Given the description of an element on the screen output the (x, y) to click on. 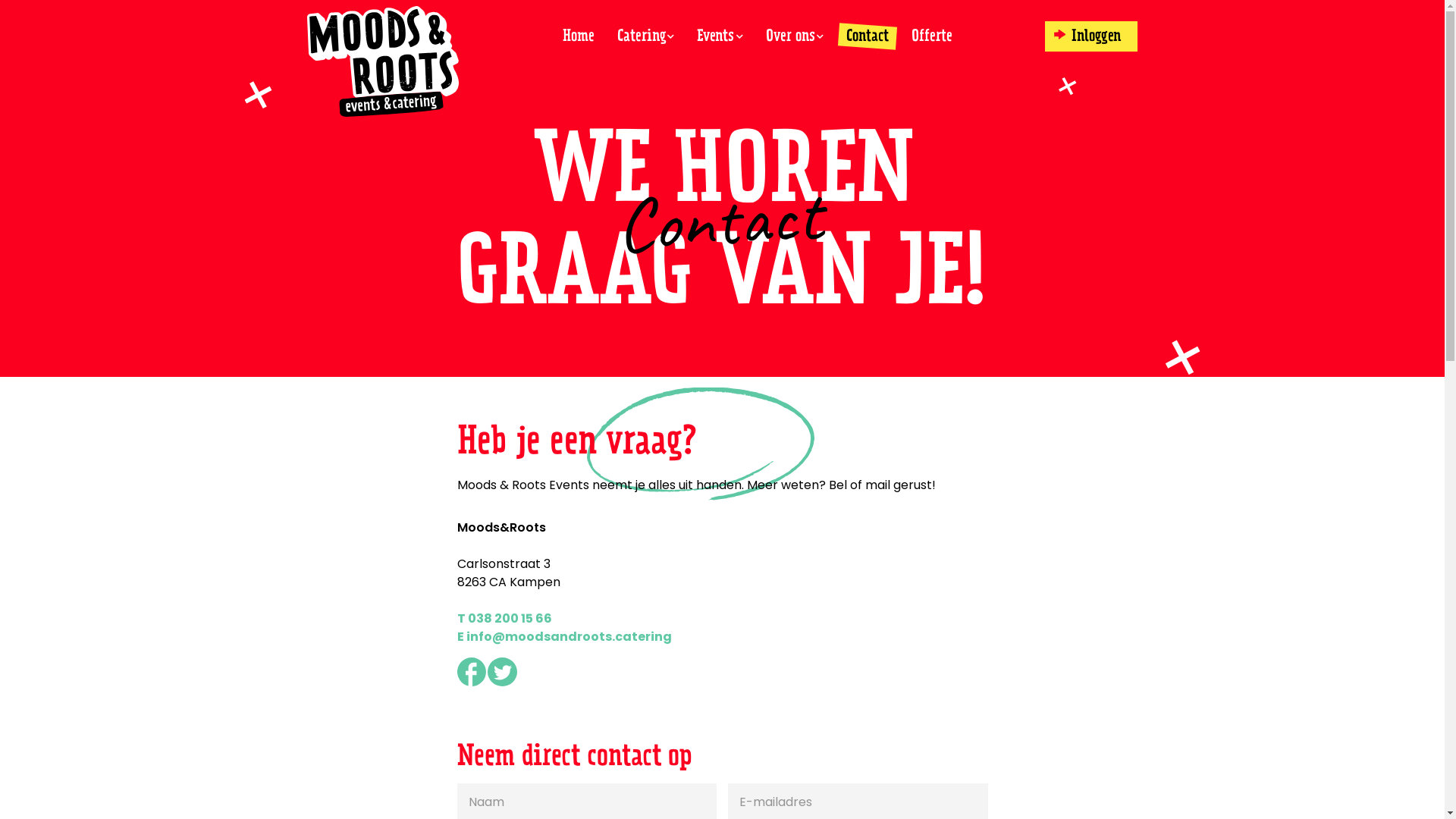
E info@moodsandroots.catering Element type: text (563, 636)
Events Element type: text (719, 36)
T 038 200 15 66 Element type: text (503, 618)
Catering Element type: text (645, 36)
Home Element type: text (577, 36)
Offerte Element type: text (931, 36)
Over ons Element type: text (793, 36)
Contact Element type: text (867, 36)
Inloggen Element type: text (1091, 36)
